Given the description of an element on the screen output the (x, y) to click on. 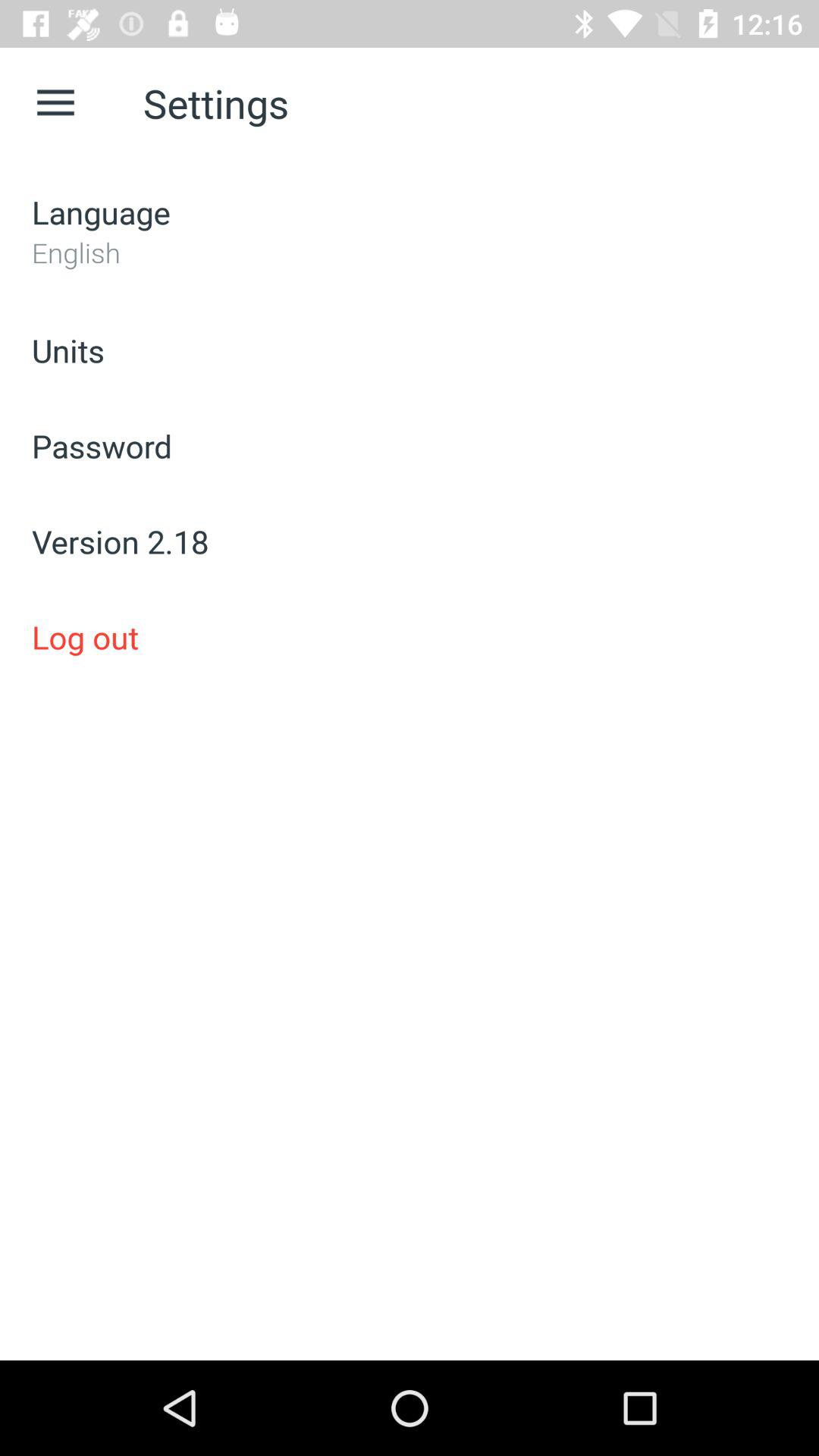
click item above version 2.18 (409, 445)
